Given the description of an element on the screen output the (x, y) to click on. 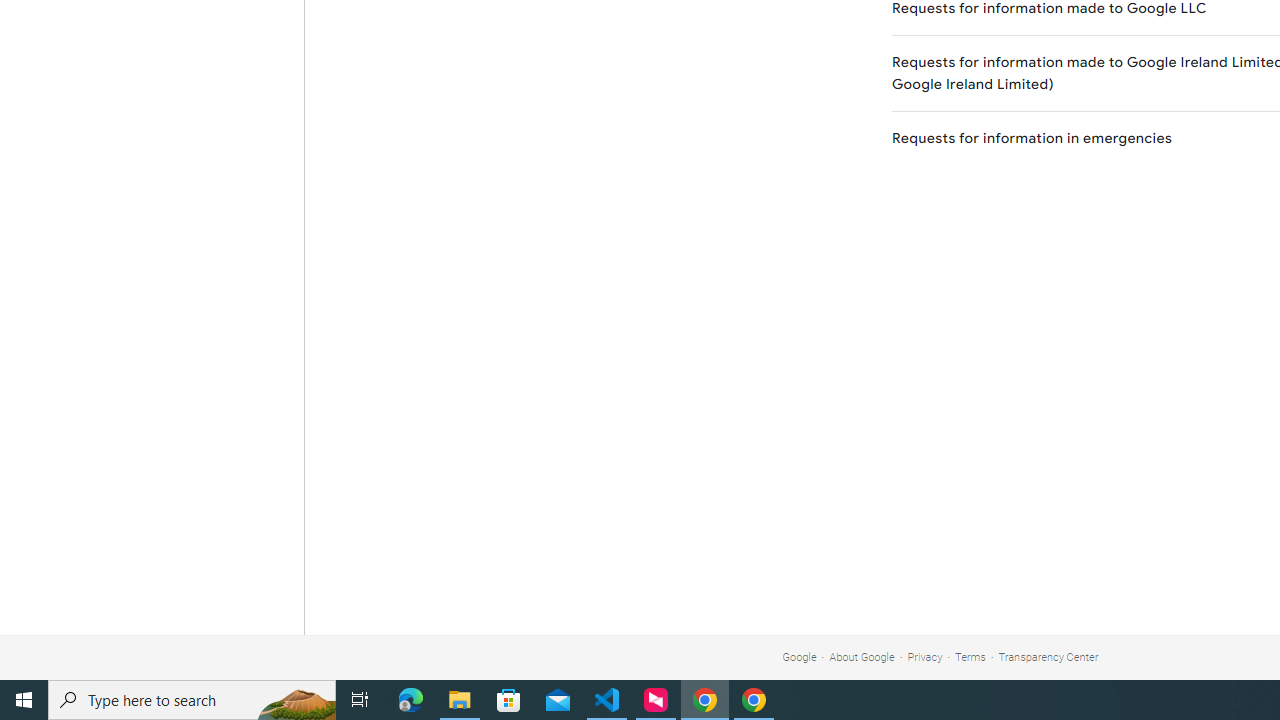
Transparency Center (1048, 656)
About Google (861, 656)
Google (799, 656)
